Given the description of an element on the screen output the (x, y) to click on. 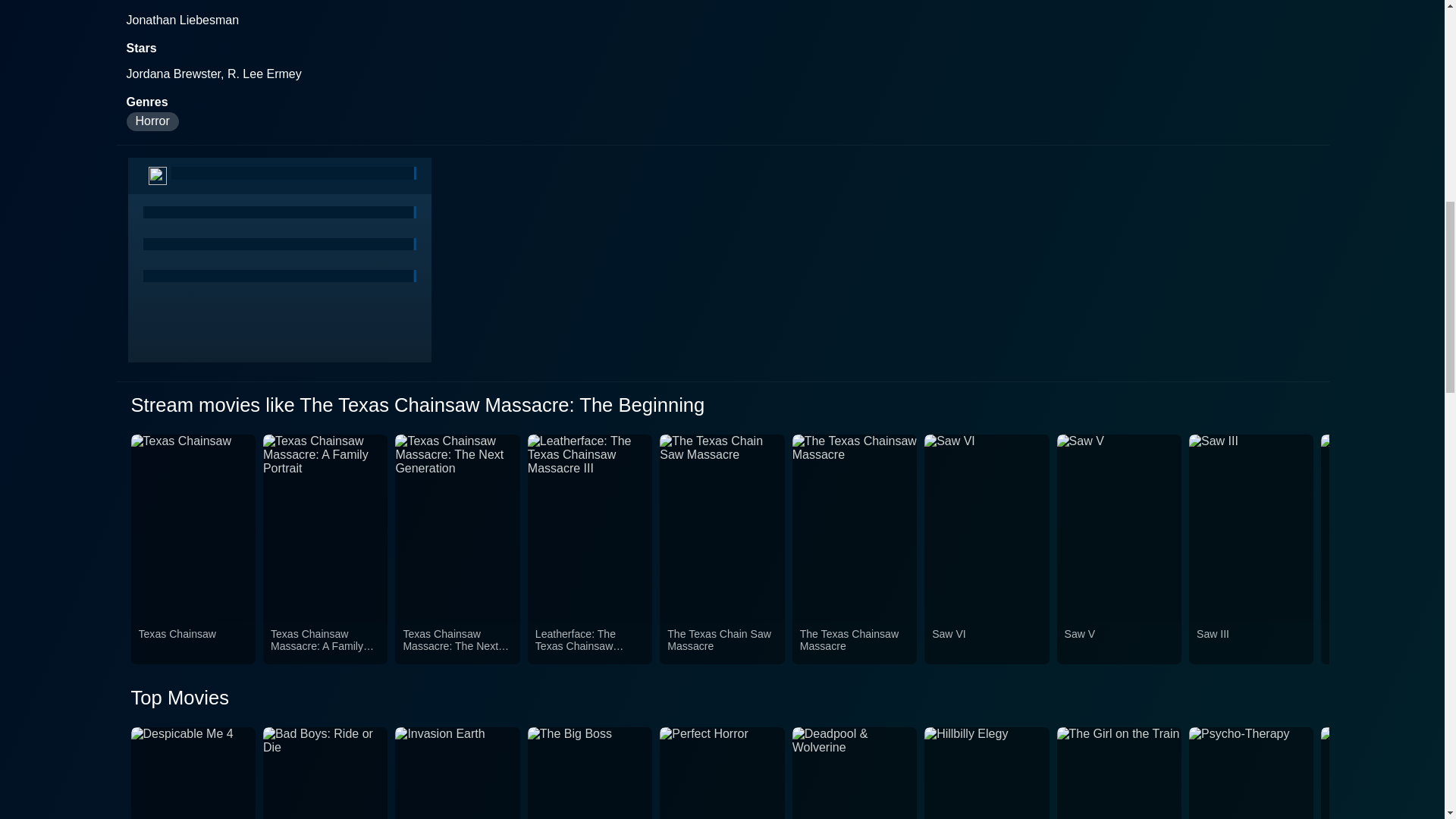
Saw V (1118, 643)
Texas Chainsaw Massacre: The Next Generation (457, 643)
The Texas Chainsaw Massacre (853, 643)
Texas Chainsaw Massacre: A Family Portrait (325, 643)
Saw IV (1382, 643)
Texas Chainsaw (192, 643)
Saw VI (986, 643)
The Texas Chain Saw Massacre (721, 643)
Saw III (1251, 643)
Leatherface: The Texas Chainsaw Massacre III (590, 643)
Horror (151, 121)
